Given the description of an element on the screen output the (x, y) to click on. 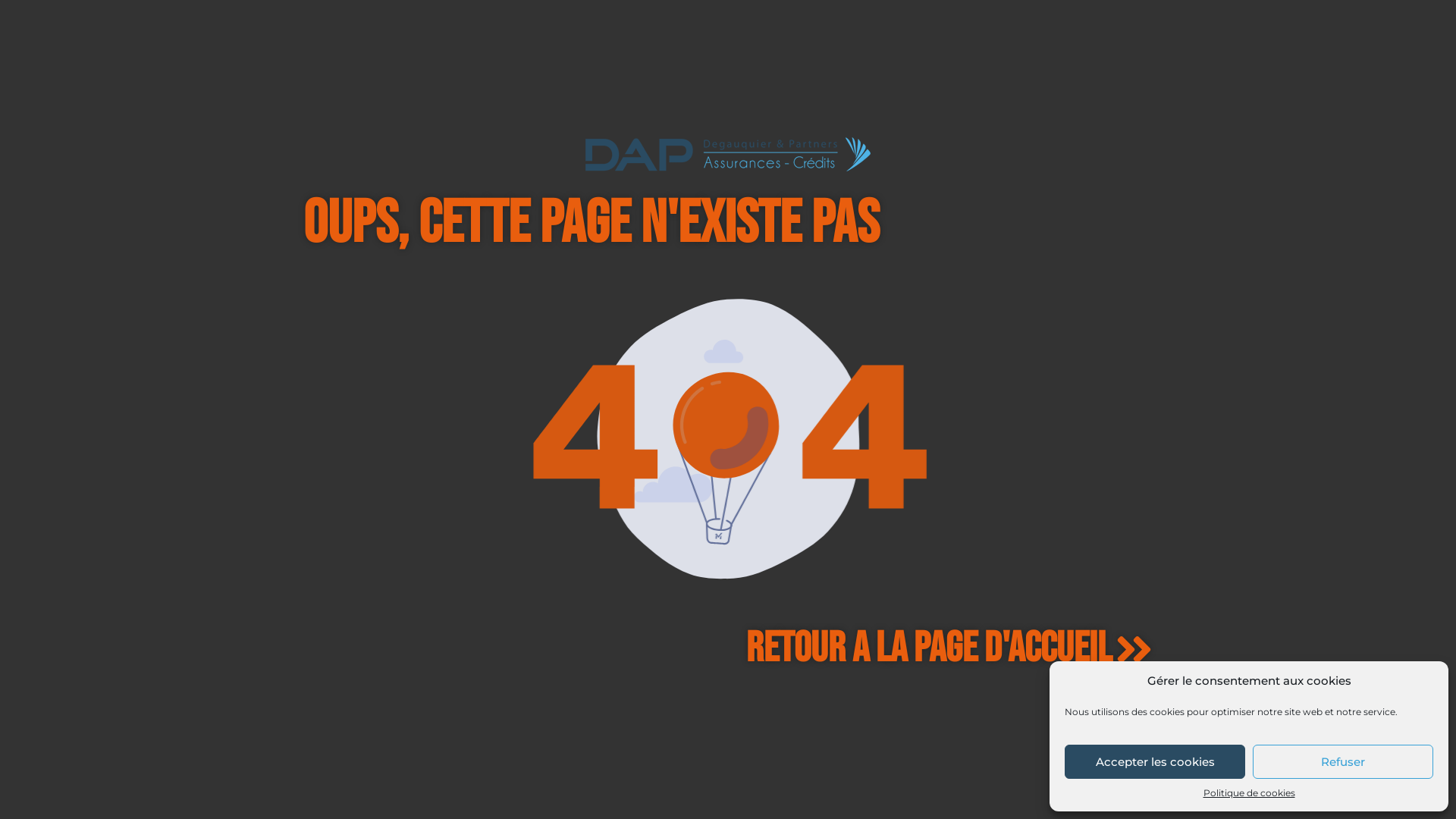
Refuser Element type: text (1342, 761)
Accepter les cookies Element type: text (1154, 761)
Politique de cookies Element type: text (1248, 793)
Retour a la page d'accueil Element type: text (949, 650)
